Given the description of an element on the screen output the (x, y) to click on. 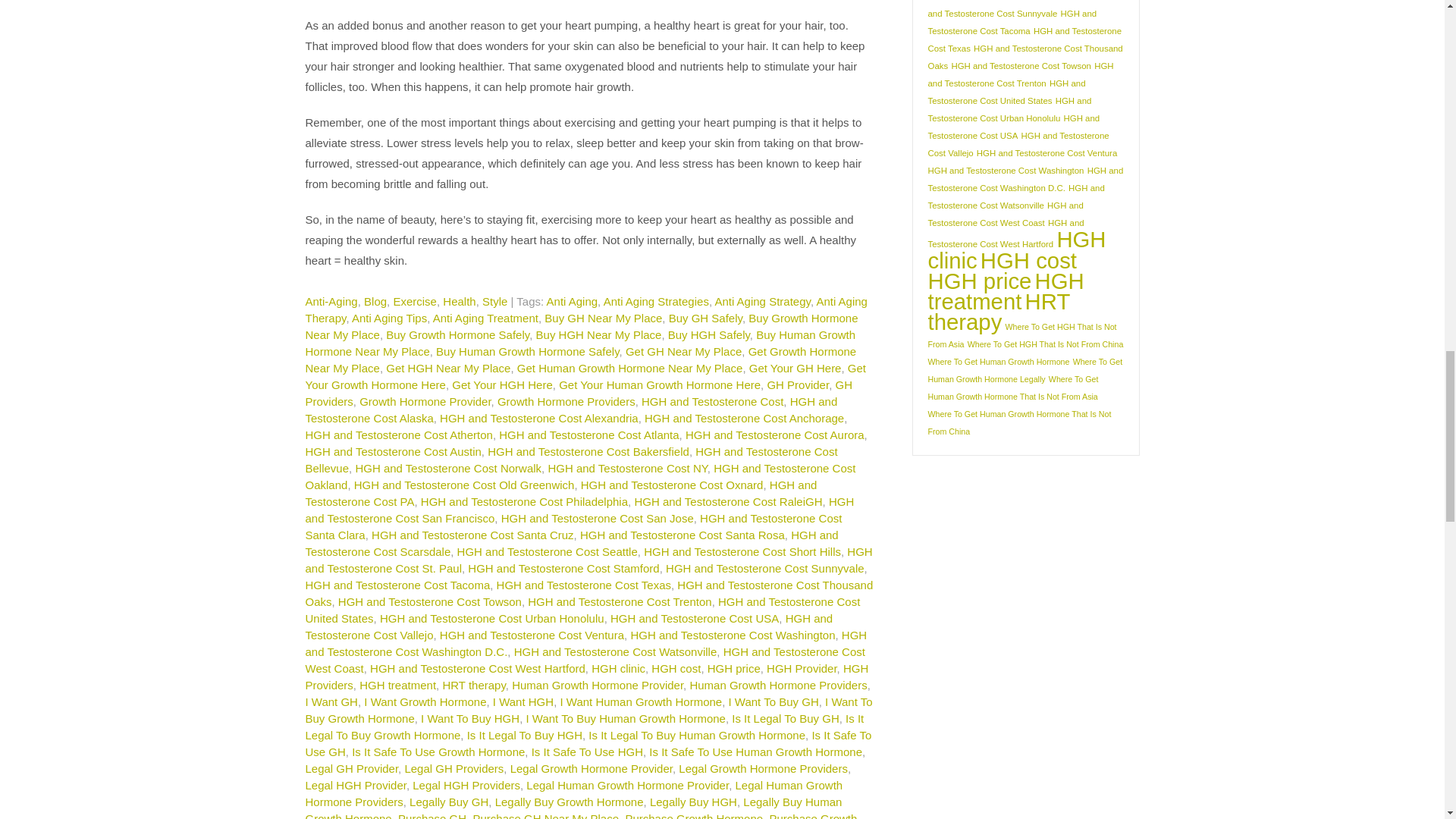
View all posts in Health (459, 300)
View all posts in Anti-Aging (330, 300)
View all posts in Exercise (414, 300)
View all posts in Style (493, 300)
View all posts in Blog (375, 300)
